Given the description of an element on the screen output the (x, y) to click on. 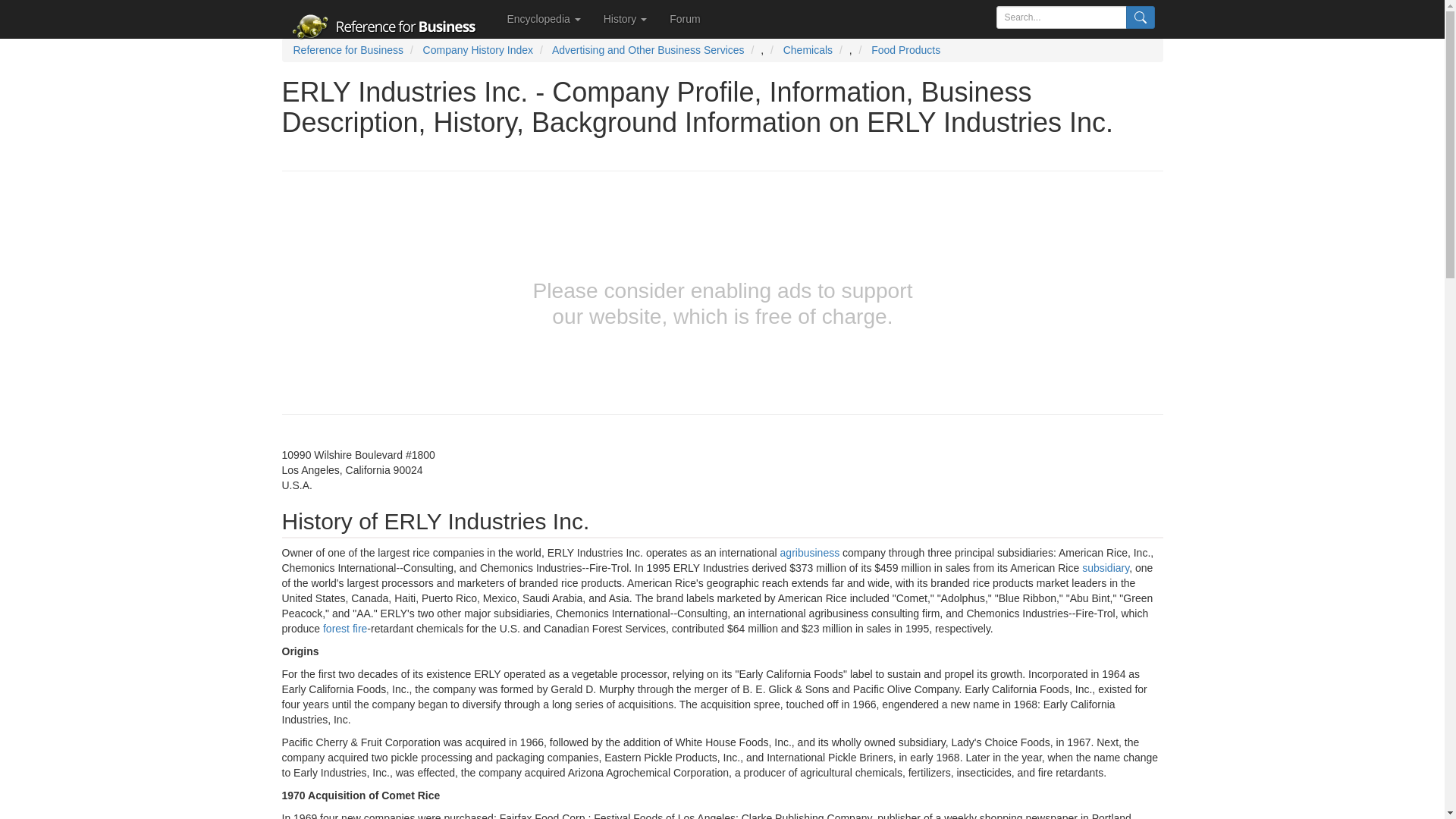
Food Products (905, 50)
forest fire (344, 628)
agribusiness (810, 552)
Company History Index (478, 50)
History (625, 18)
View 'subsidiary' definition from Wikipedia (1105, 567)
View 'agribusiness' definition from Wikipedia (810, 552)
Chemicals (807, 50)
subsidiary (1105, 567)
Advertising and Other Business Services (647, 50)
Advertisement (138, 306)
View 'forest fire' definition from Wikipedia (344, 628)
Forum (684, 18)
Encyclopedia (544, 18)
